Given the description of an element on the screen output the (x, y) to click on. 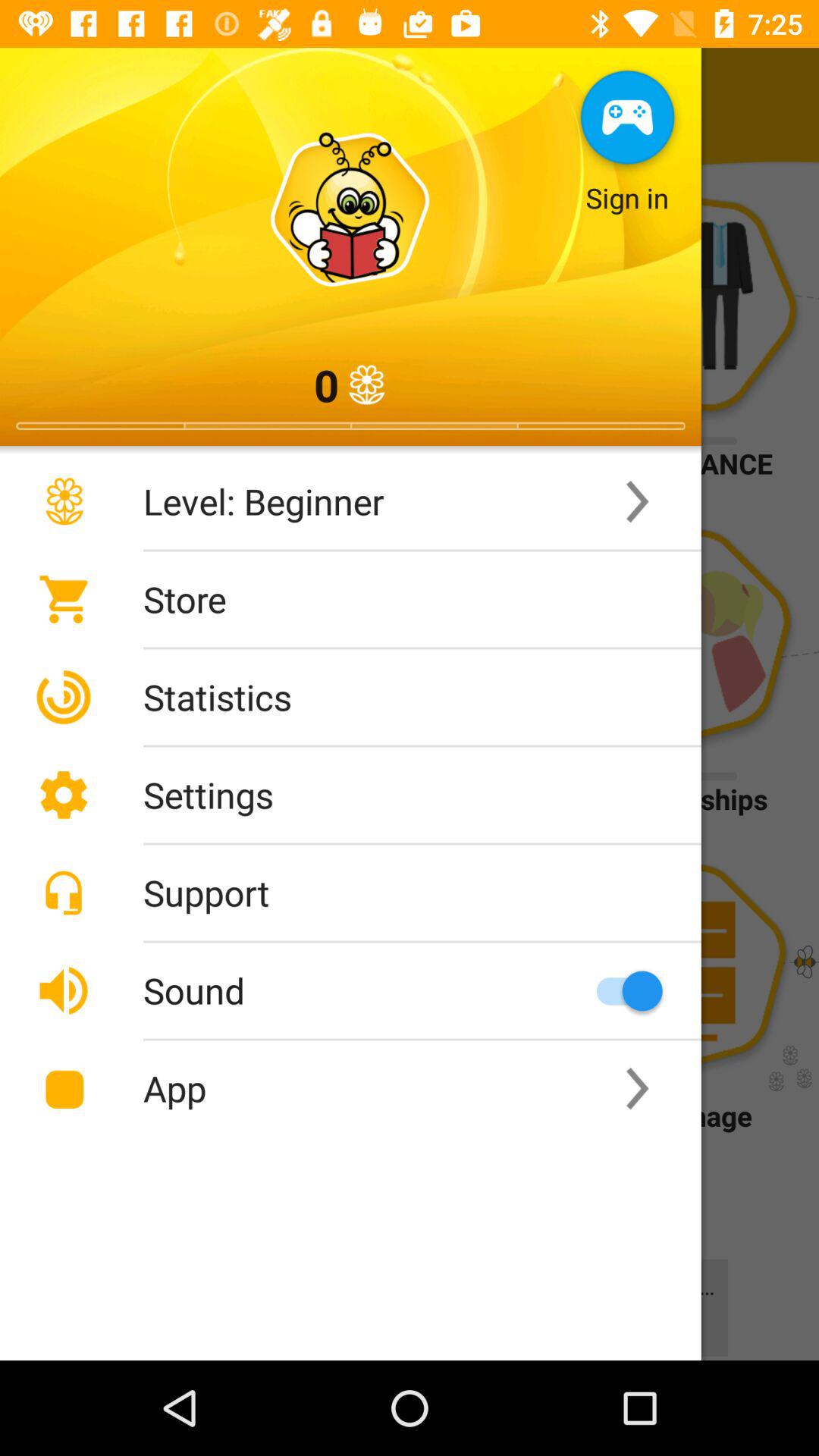
select the symbol which is to the immediate left of app (63, 1089)
click on the flower image to the left of the text level beginner (63, 502)
